Given the description of an element on the screen output the (x, y) to click on. 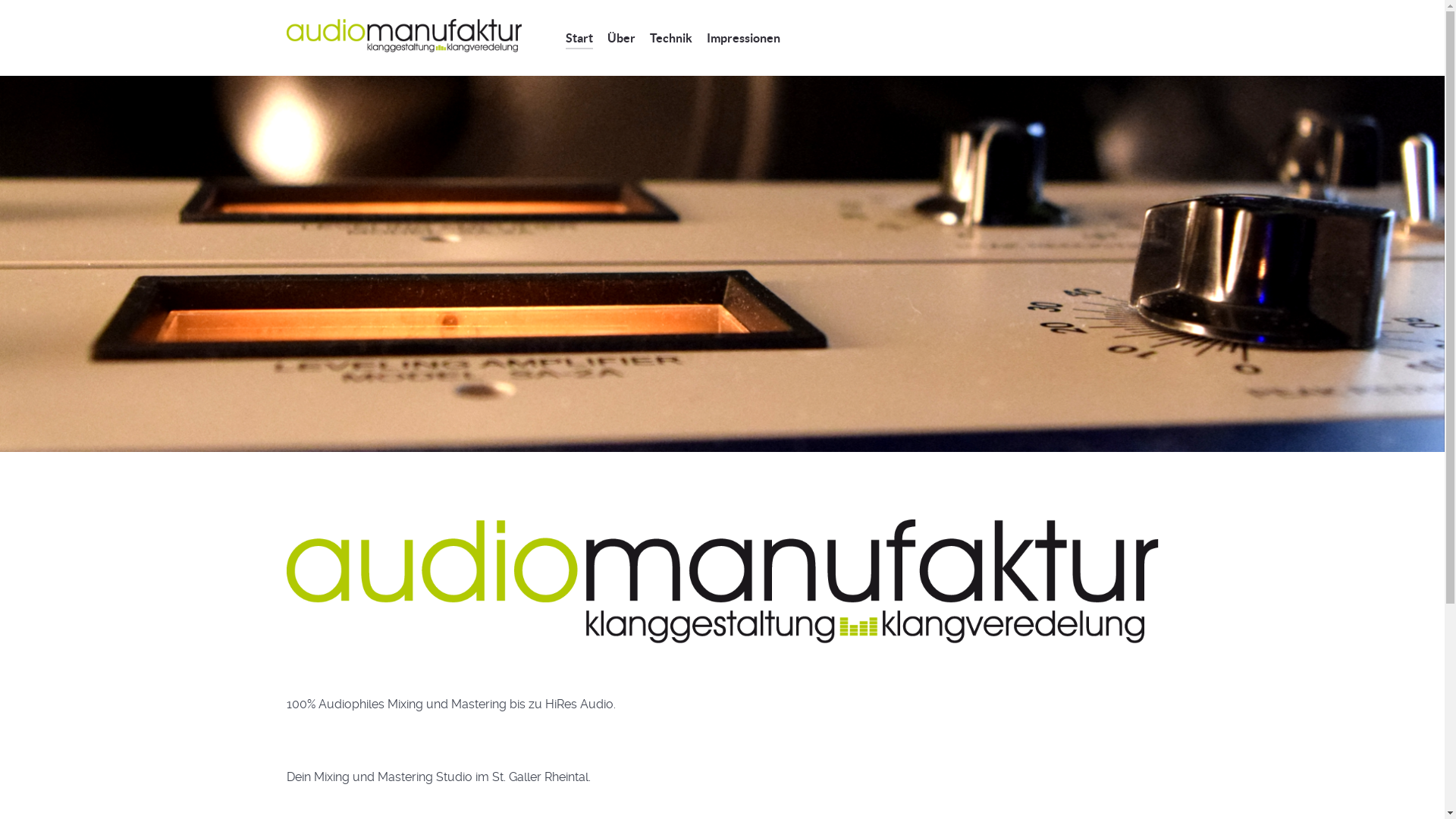
Start Element type: text (579, 39)
Technik Element type: text (670, 39)
Impressionen Element type: text (743, 39)
